Given the description of an element on the screen output the (x, y) to click on. 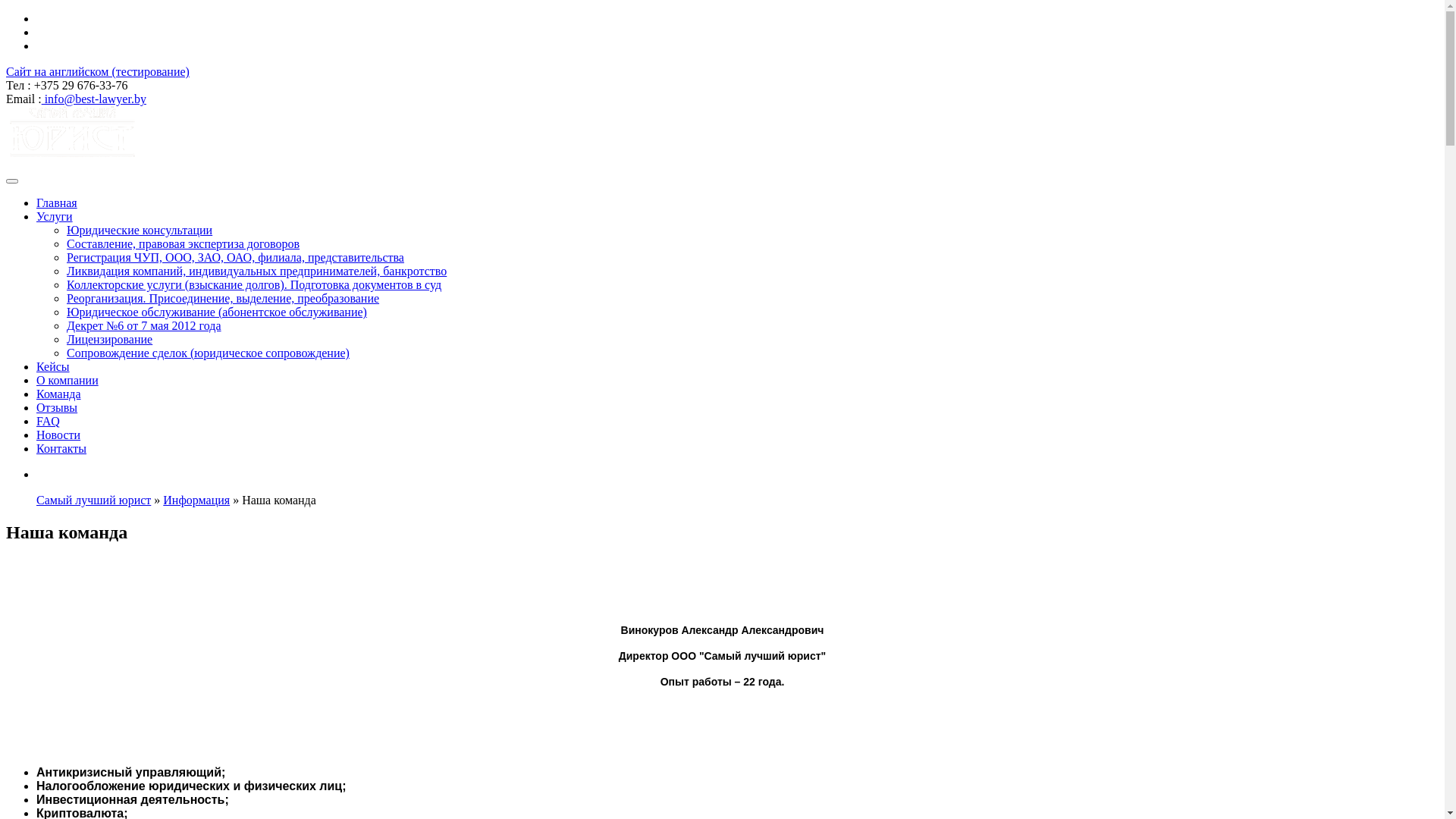
FAQ Element type: text (47, 420)
info@best-lawyer.by Element type: text (93, 98)
